Given the description of an element on the screen output the (x, y) to click on. 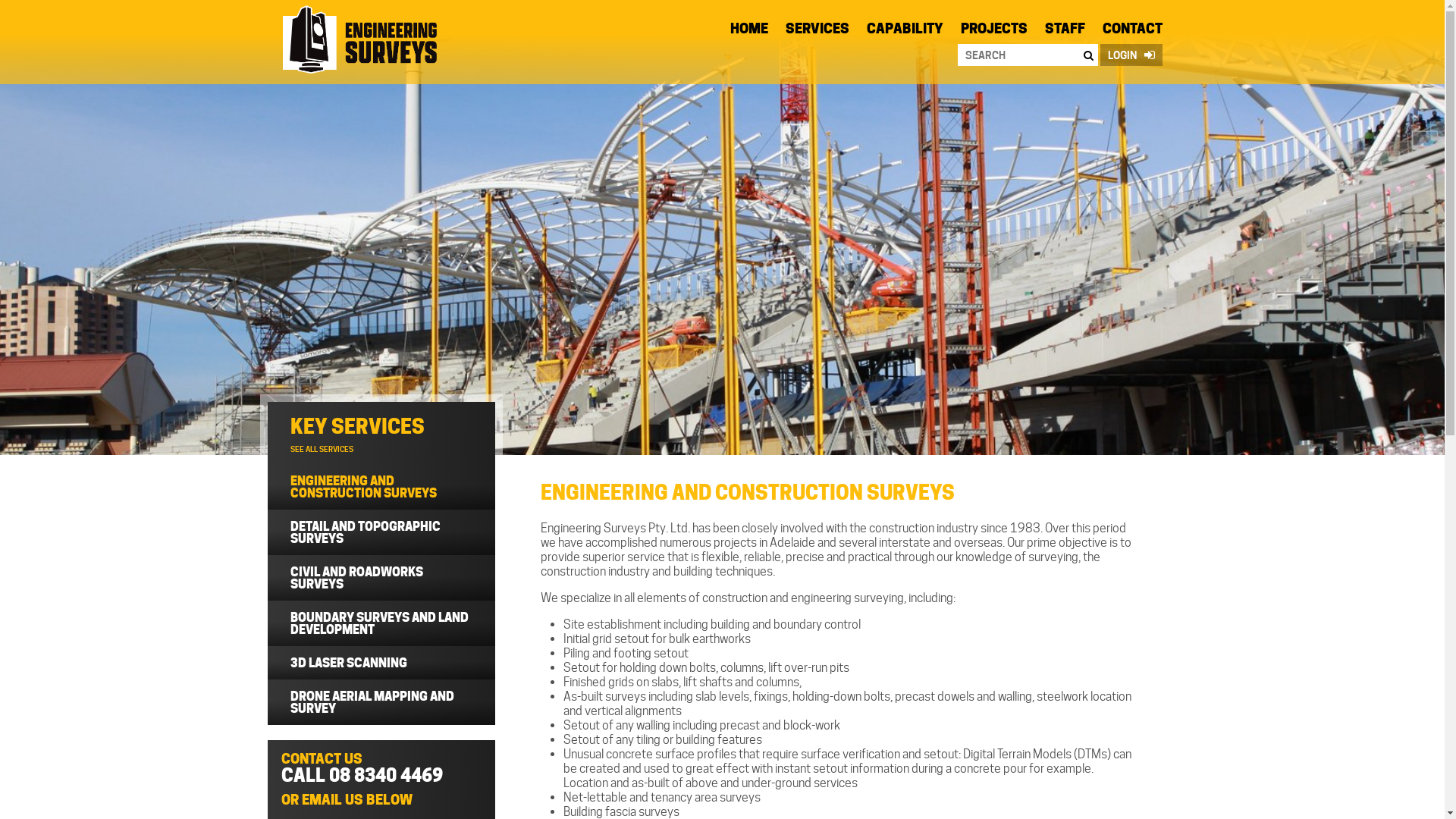
CONTACT Element type: text (1132, 31)
STAFF Element type: text (1064, 31)
Submit Element type: text (462, 13)
SERVICES Element type: text (817, 31)
Search Element type: hover (1087, 54)
CAPABILITY Element type: text (904, 31)
CALL 08 8340 4469 Element type: text (361, 775)
CIVIL AND ROADWORKS SURVEYS Element type: text (380, 577)
SEE ALL SERVICES Element type: text (320, 448)
PROJECTS Element type: text (993, 31)
DRONE AERIAL MAPPING AND SURVEY Element type: text (380, 701)
HOME Element type: text (748, 31)
BOUNDARY SURVEYS AND LAND DEVELOPMENT Element type: text (380, 623)
ENGINEERING AND CONSTRUCTION SURVEYS Element type: text (380, 486)
DETAIL AND TOPOGRAPHIC SURVEYS Element type: text (380, 532)
3D LASER SCANNING Element type: text (380, 662)
